Given the description of an element on the screen output the (x, y) to click on. 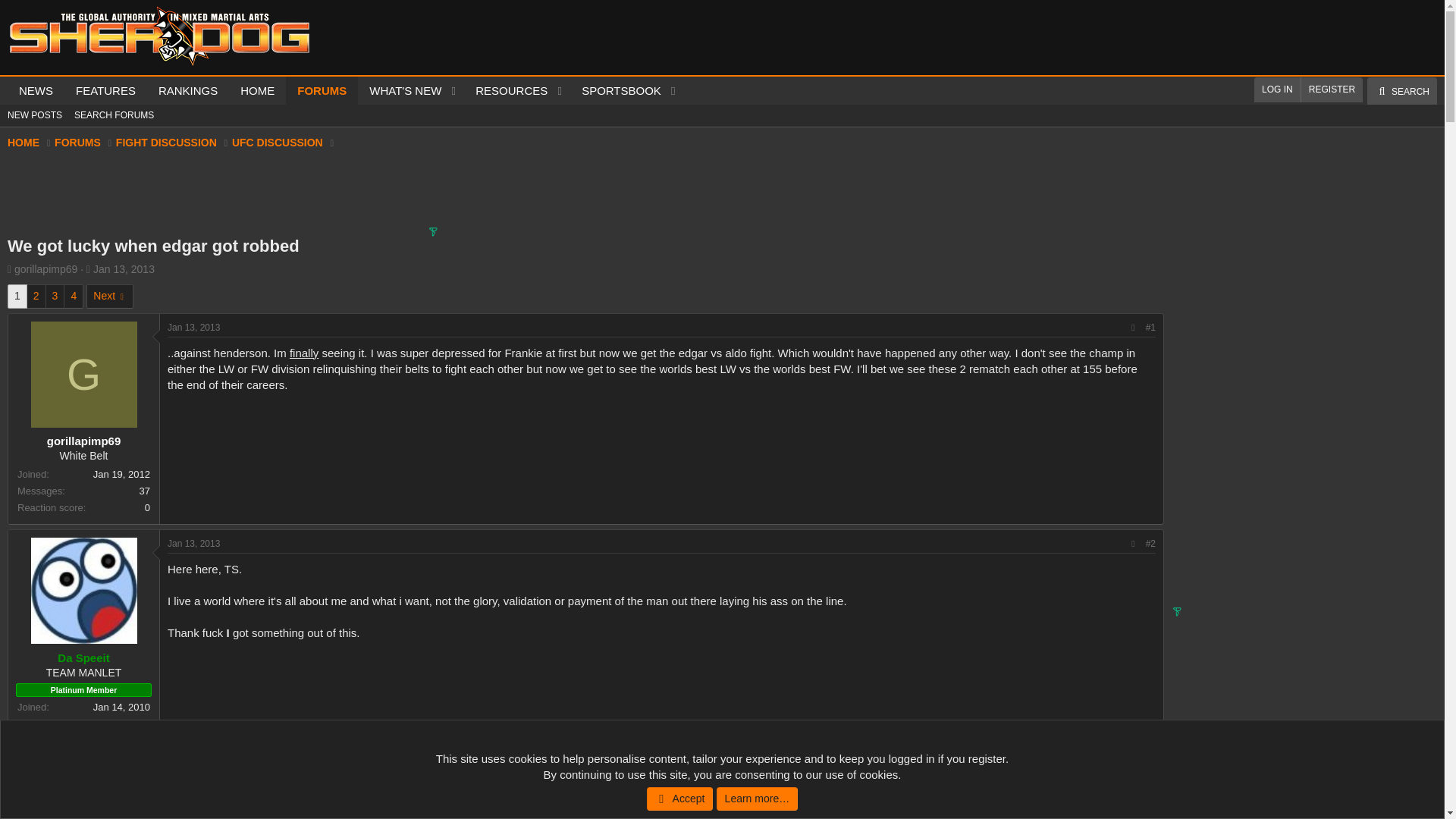
SPORTSBOOK (616, 90)
RESOURCES (506, 90)
SEARCH (1402, 90)
REGISTER (1331, 89)
RANKINGS (187, 90)
3rd party ad content (703, 188)
Jan 13, 2013 at 9:45 PM (123, 268)
HOME (256, 90)
NEW POSTS (34, 115)
NEWS (35, 90)
Search (1402, 90)
SEARCH FORUMS (114, 115)
